Given the description of an element on the screen output the (x, y) to click on. 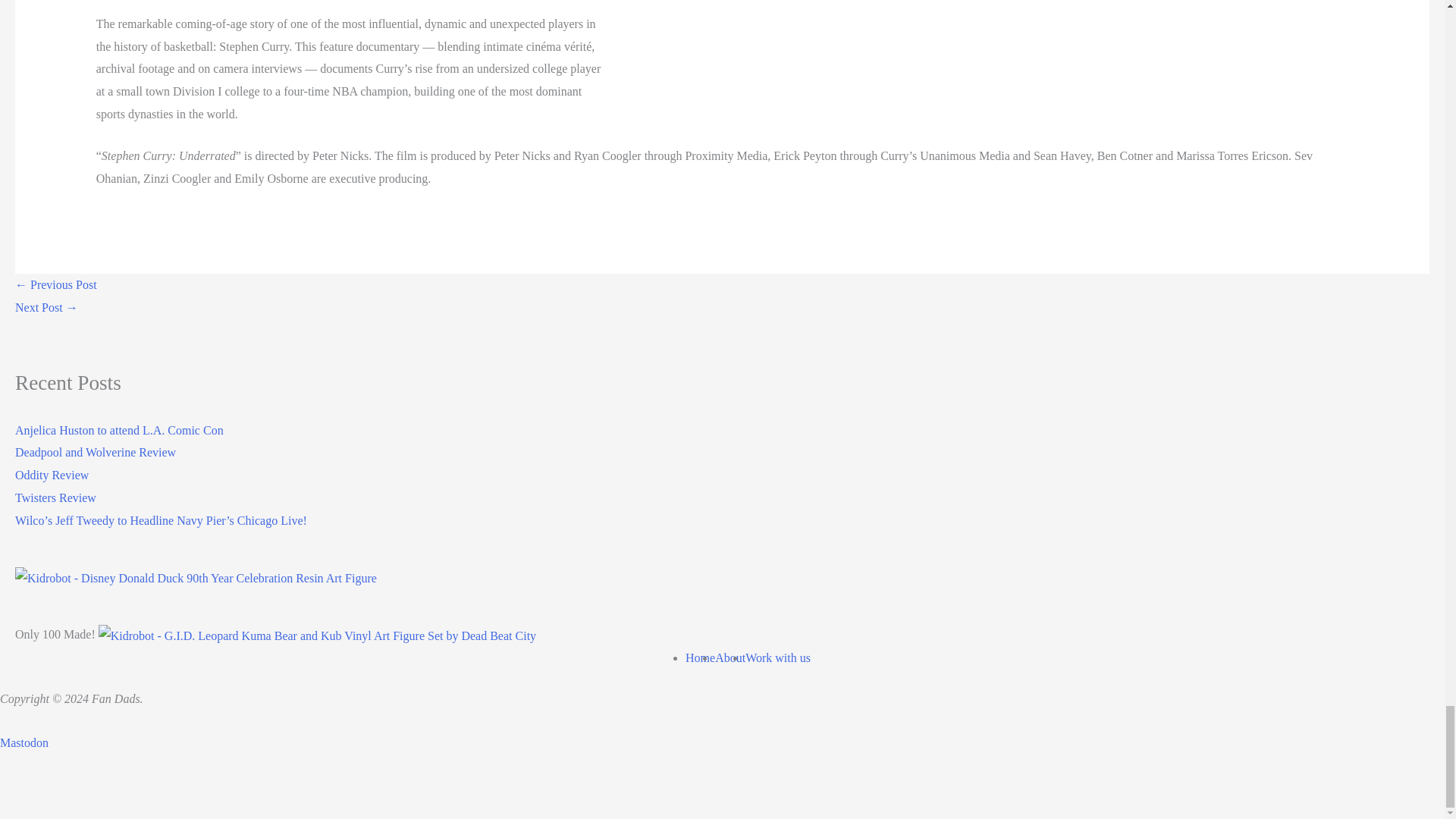
Twisters Review (55, 497)
Oddity Review (51, 474)
Anjelica Huston to attend L.A. Comic Con (119, 430)
Deadpool and Wolverine Review (95, 451)
Review: "Haunted Mansion" (46, 307)
